Given the description of an element on the screen output the (x, y) to click on. 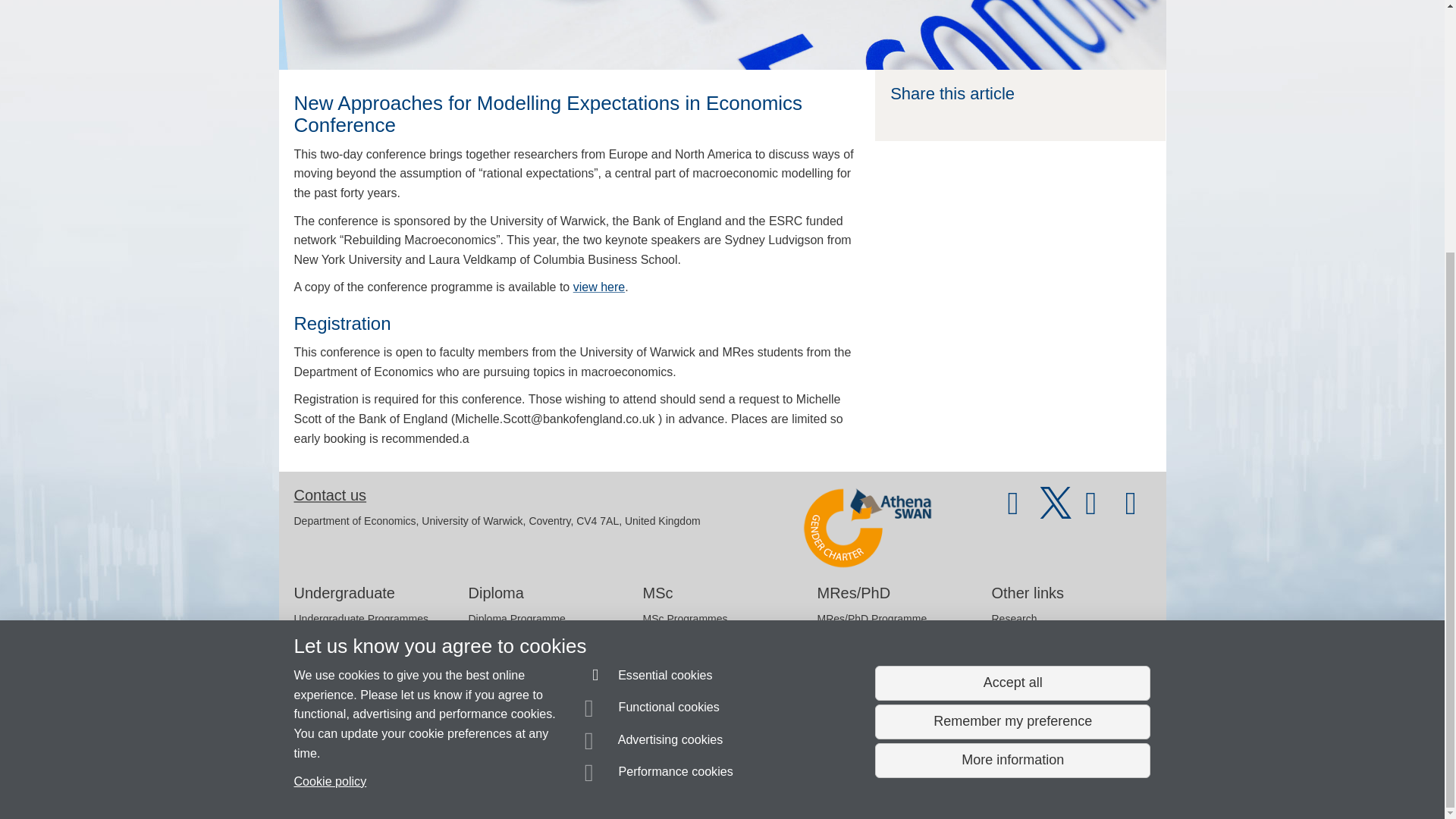
Warwick Economics on Instagram (1130, 510)
More information about SiteBuilder (365, 780)
Terms of use (708, 780)
Information about cookies (467, 780)
Warwick Economics on YouTube (1012, 510)
Send an email to Economics Sitebuilder API (404, 751)
Privacy notice (673, 780)
Copyright Statement (514, 780)
Warwick Economics on Twitter (1055, 510)
Warwick Economics on Facebook (1094, 510)
Essential cookies are always on (649, 320)
Athena Swan (867, 527)
